Given the description of an element on the screen output the (x, y) to click on. 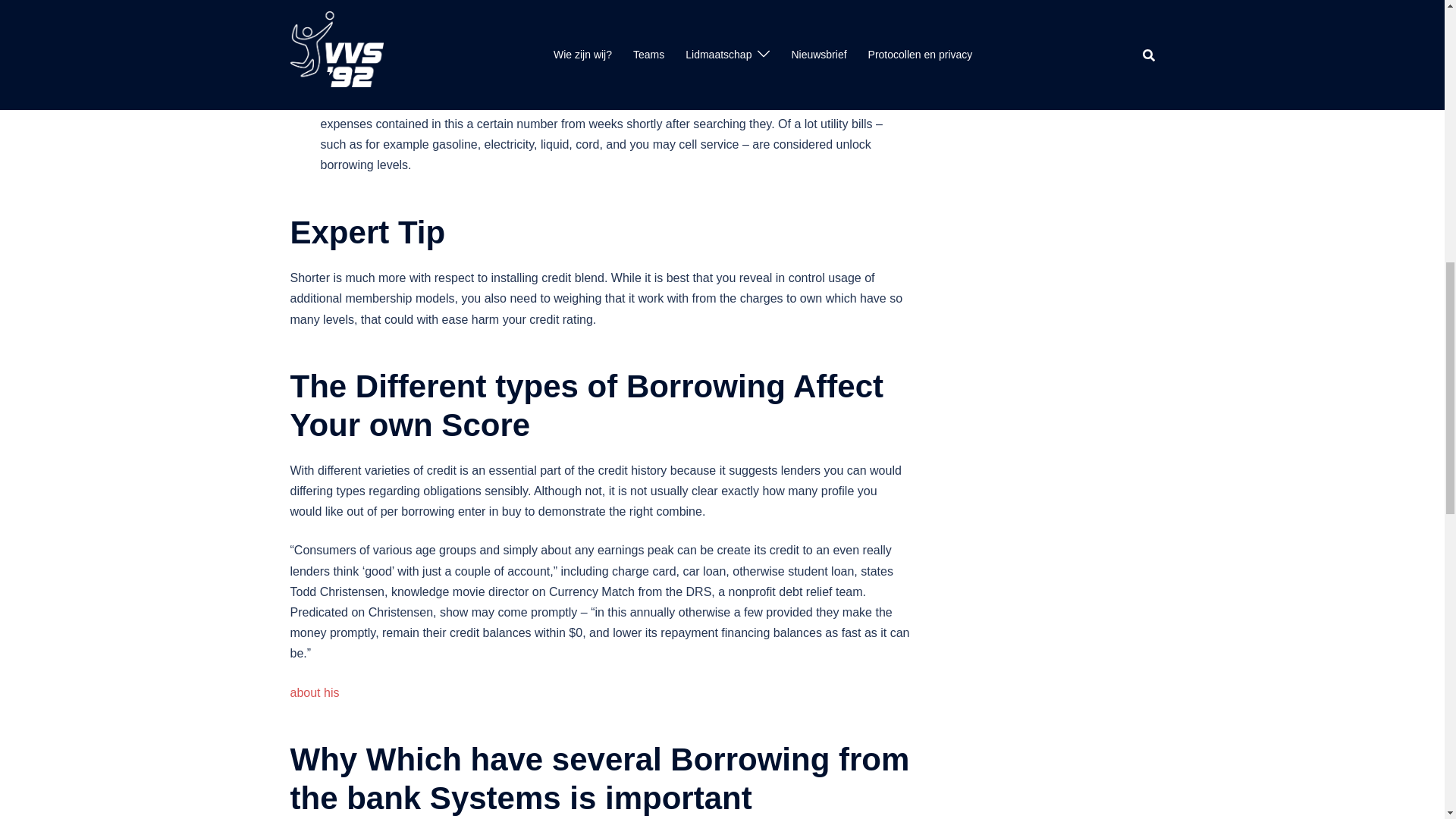
about his (314, 692)
